Given the description of an element on the screen output the (x, y) to click on. 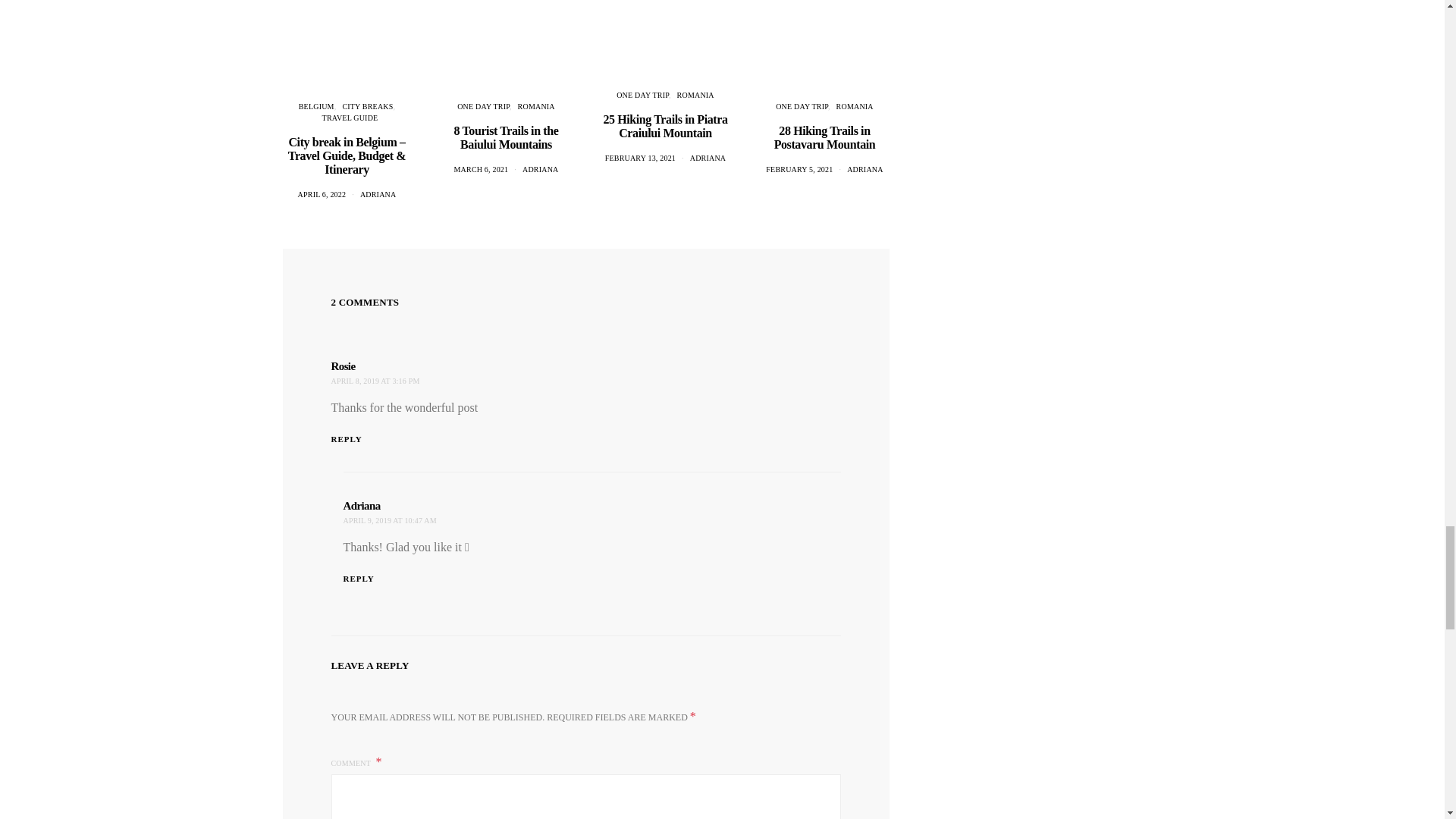
View all posts by Adriana (377, 194)
View all posts by Adriana (540, 169)
View all posts by Adriana (865, 169)
View all posts by Adriana (708, 157)
